Given the description of an element on the screen output the (x, y) to click on. 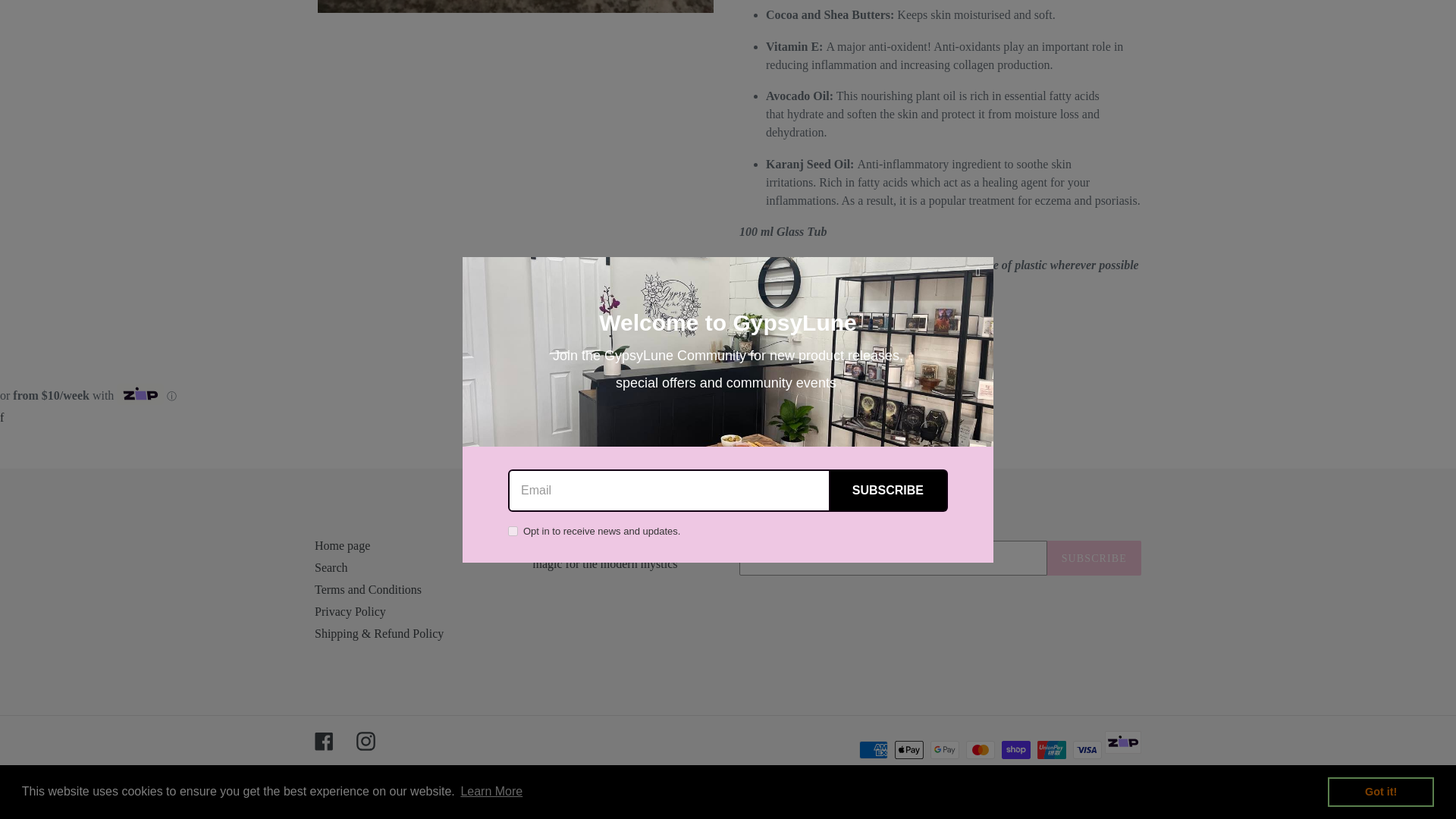
Learn More (491, 190)
Got it! (1380, 191)
